Given the description of an element on the screen output the (x, y) to click on. 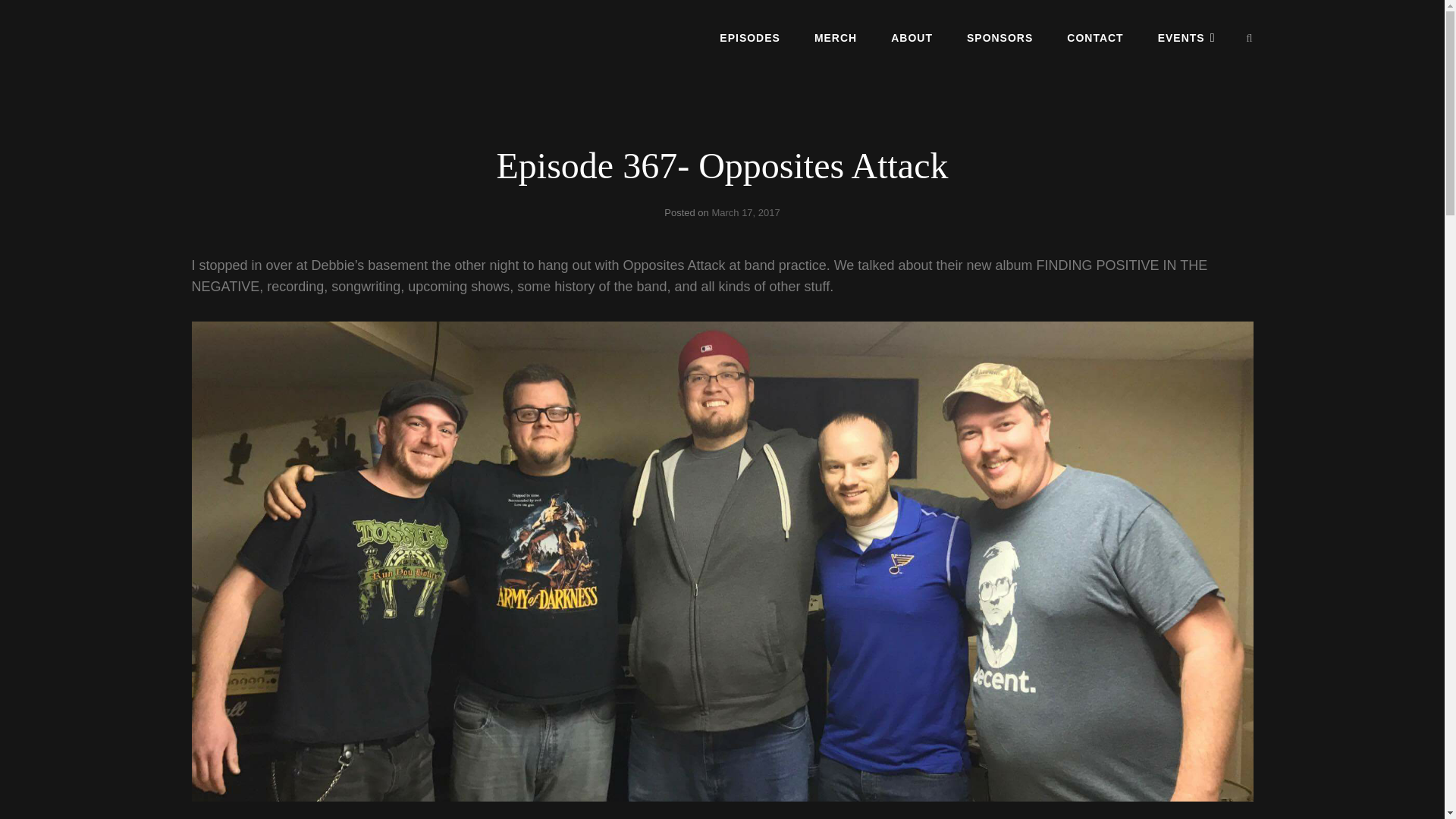
ABOUT (911, 37)
EVENTS (1186, 37)
CONTACT (1094, 37)
SEARCH (1249, 37)
EPISODES (749, 37)
MERCH (835, 37)
SPONSORS (1000, 37)
March 17, 2017 (744, 212)
ROCK PAPER PODCAST (304, 50)
